Given the description of an element on the screen output the (x, y) to click on. 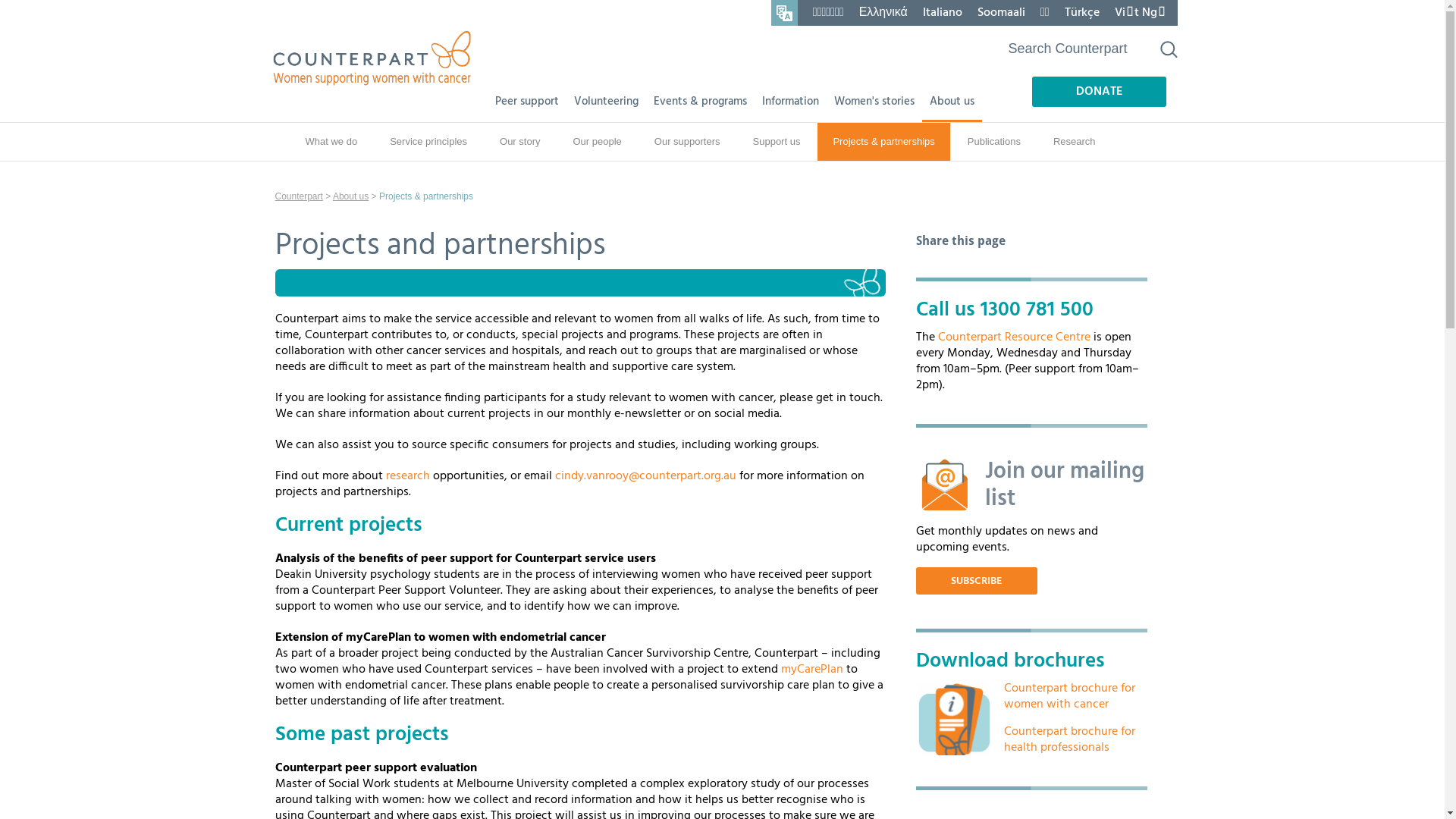
Italiano Element type: text (942, 12)
Our story Element type: text (519, 141)
Our supporters Element type: text (687, 141)
Research Element type: text (1074, 141)
Counterpart Resource Centre Element type: text (1013, 337)
Women's stories Element type: text (874, 100)
Peer support in your own language Element type: text (784, 12)
Information Element type: text (789, 100)
Events & programs Element type: text (700, 100)
About us Element type: text (952, 100)
Support us Element type: text (776, 141)
myCarePlan Element type: text (812, 669)
Publications Element type: text (993, 141)
SUBSCRIBE Element type: text (976, 580)
Soomaali Element type: text (1001, 12)
About us Element type: text (350, 196)
Peer support Element type: text (525, 100)
Counterpart brochure for women with cancer Element type: text (1069, 696)
Our people Element type: text (597, 141)
DONATE Element type: text (1098, 91)
cindy.vanrooy@counterpart.org.au Element type: text (645, 476)
Counterpart Element type: hover (372, 56)
What we do Element type: text (330, 141)
Counterpart Element type: text (298, 196)
Volunteering Element type: text (605, 100)
Counterpart brochure for health professionals Element type: text (1069, 739)
research Element type: text (407, 476)
Projects & partnerships Element type: text (883, 141)
Service principles Element type: text (428, 141)
